Given the description of an element on the screen output the (x, y) to click on. 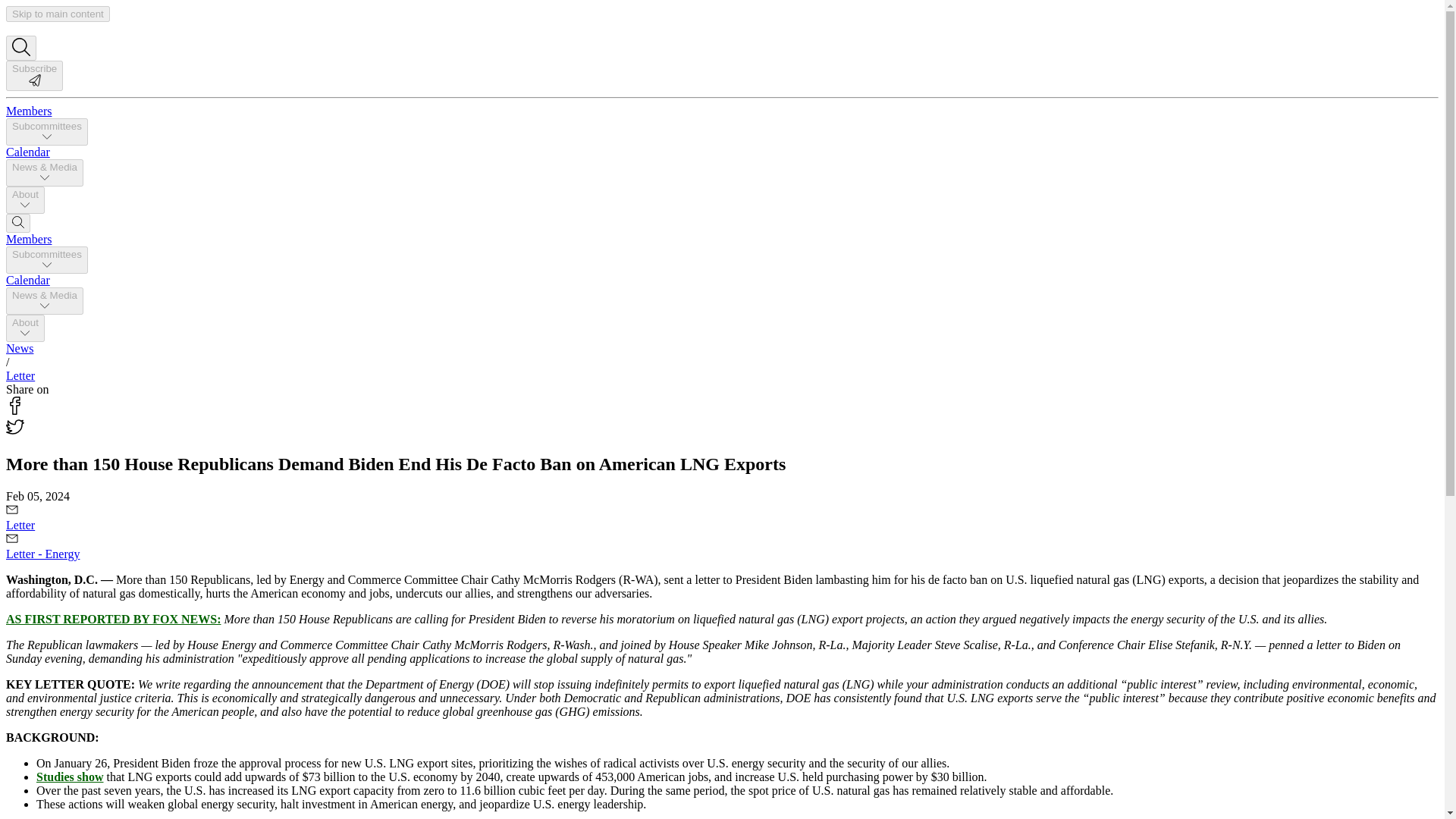
Subcommittees (46, 131)
Subcommittees (46, 259)
Studies show (69, 776)
Subscribe (33, 82)
Subscribe (33, 75)
Calendar (27, 279)
Calendar (27, 151)
AS FIRST REPORTED BY FOX NEWS: (113, 618)
Members (27, 110)
Letter (19, 375)
